Given the description of an element on the screen output the (x, y) to click on. 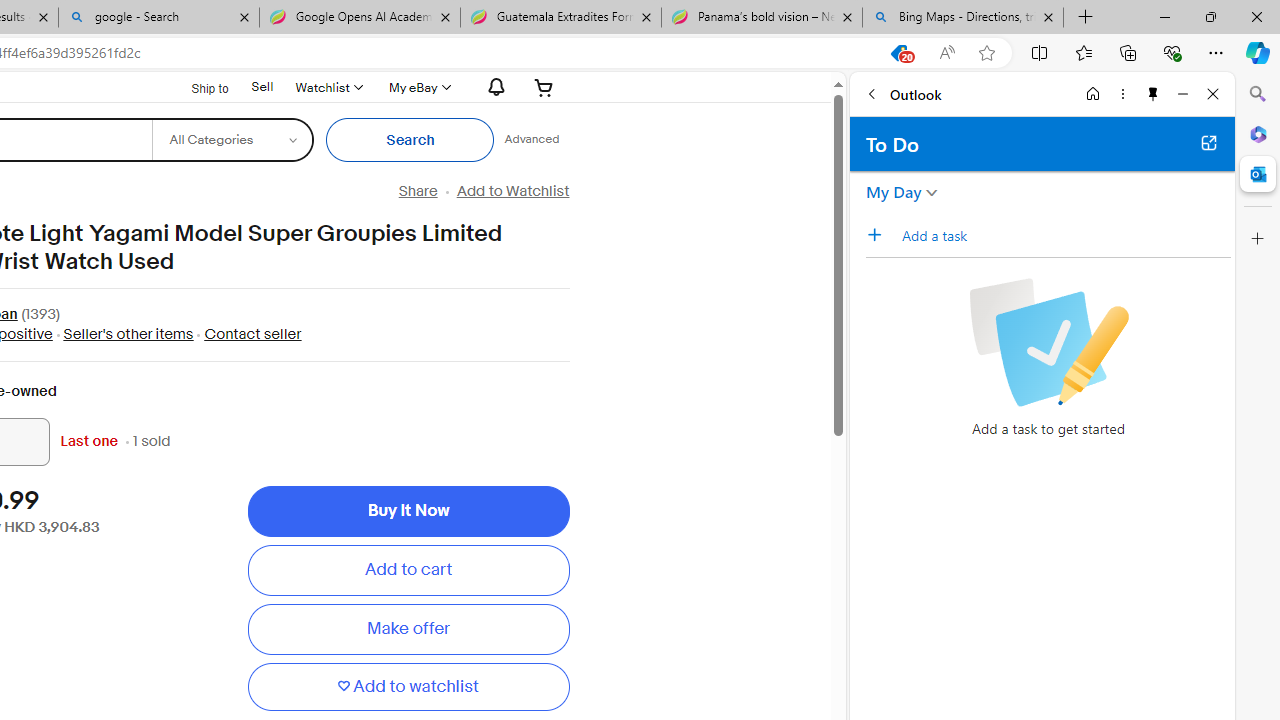
Add to cart (408, 570)
Contact seller (252, 334)
Select a category for search (232, 139)
AutomationID: gh-eb-Alerts (493, 87)
Expand Cart (543, 87)
Ship to (197, 88)
Make offer (408, 629)
